Given the description of an element on the screen output the (x, y) to click on. 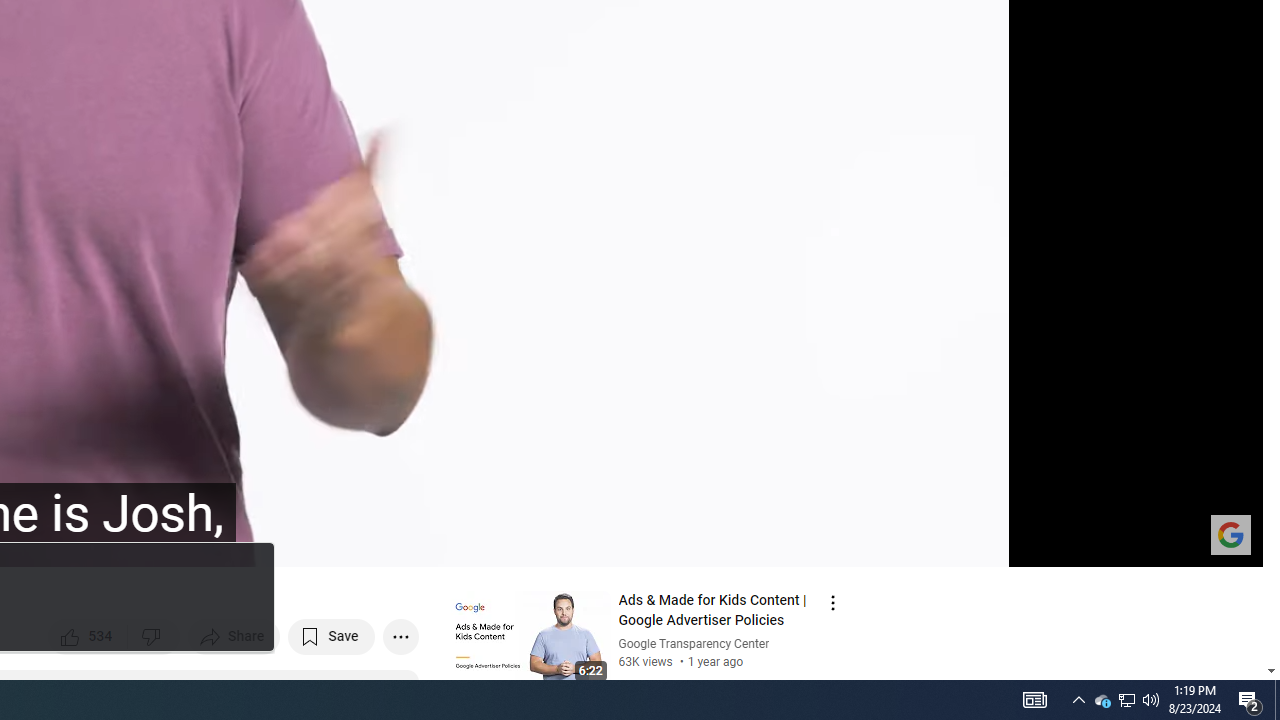
Channel watermark (1230, 534)
